Given the description of an element on the screen output the (x, y) to click on. 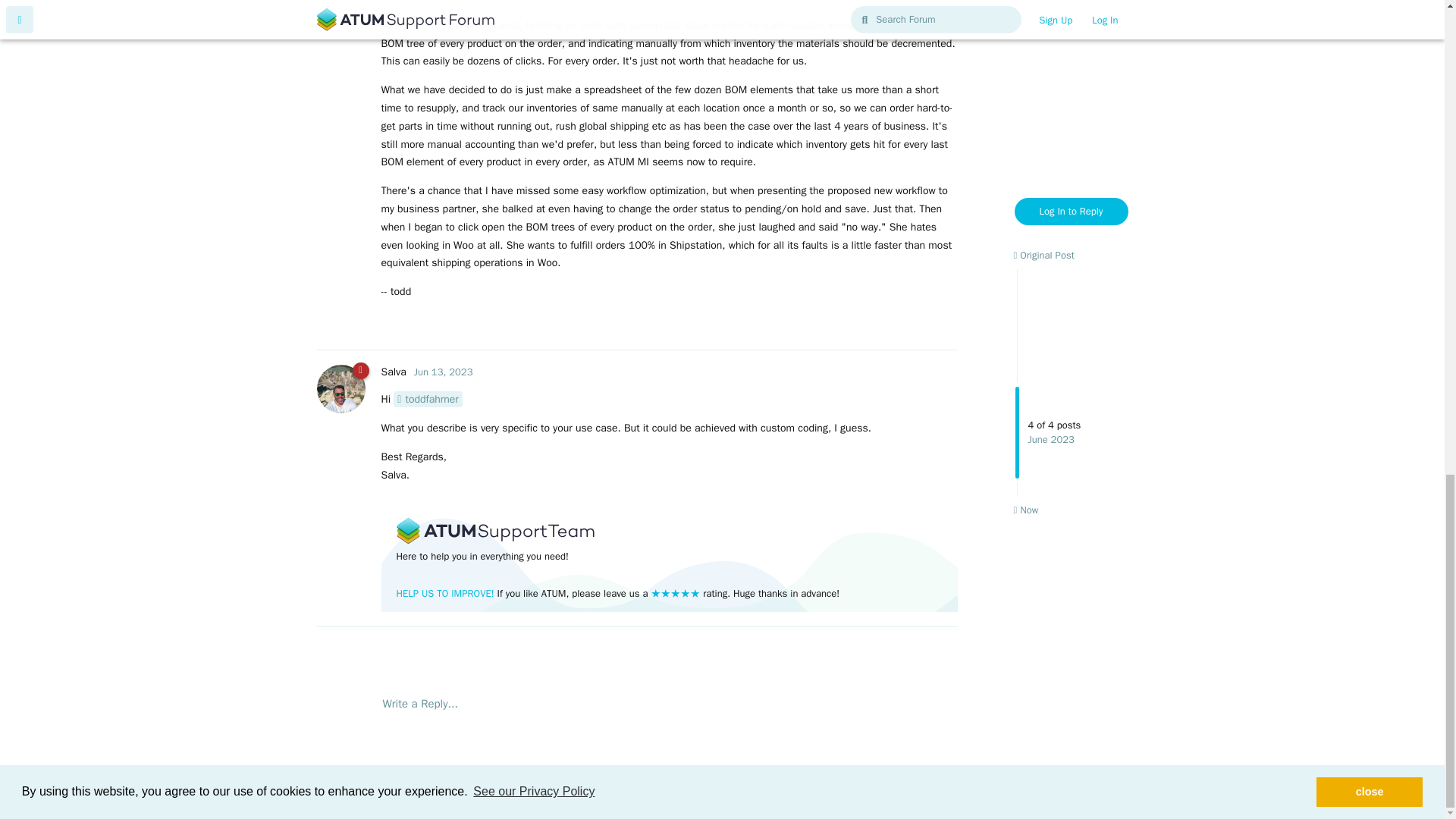
HELP US TO IMPROVE! (444, 593)
Tuesday, June 13, 2023 2:38 PM (443, 371)
toddfahrner (428, 399)
Jun 13, 2023 (443, 371)
Salva (393, 371)
